Given the description of an element on the screen output the (x, y) to click on. 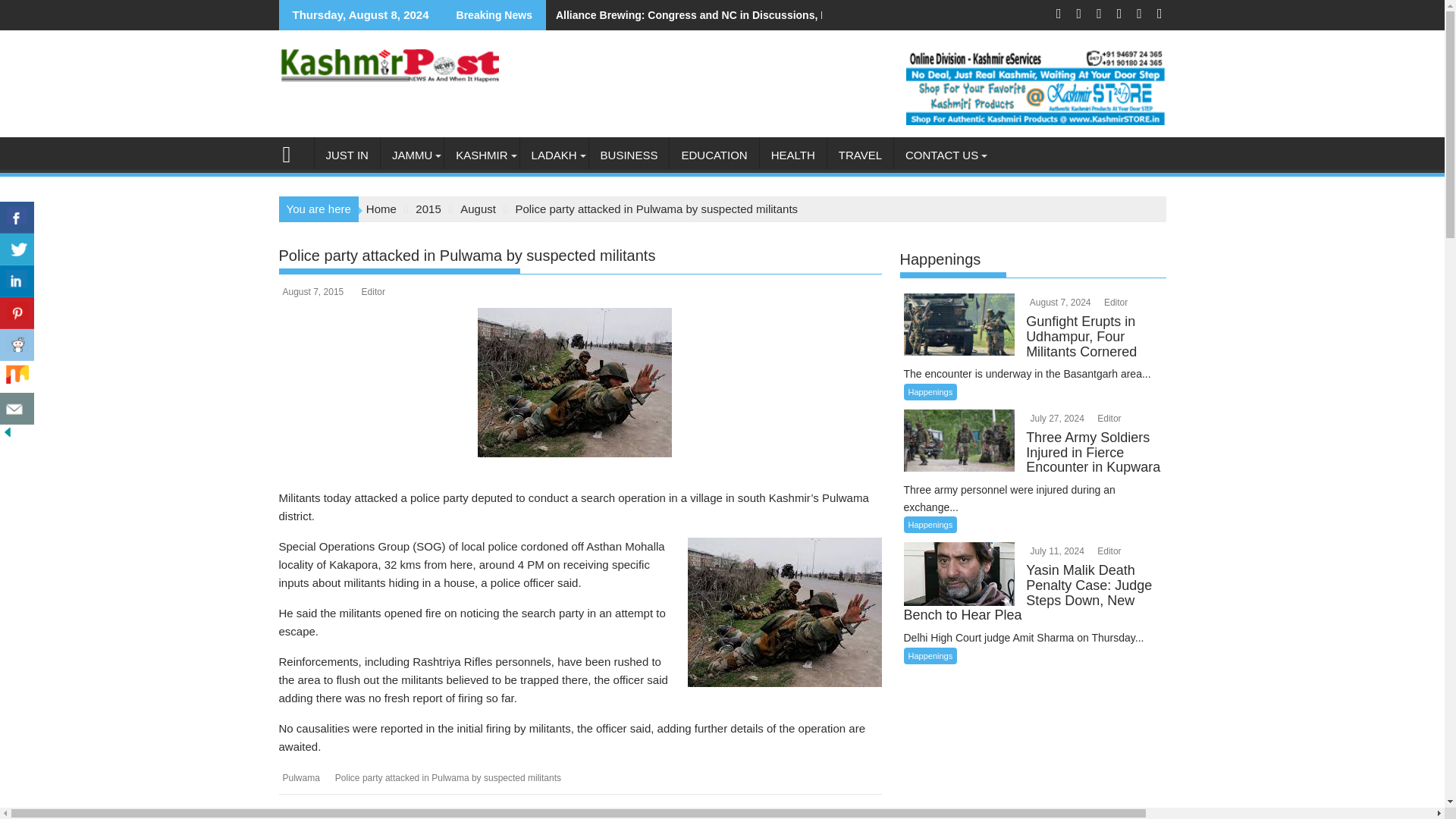
JUST IN (346, 155)
KASHMIR (481, 155)
Alliance Brewing: Congress and NC in Discussions, PDP Absent (713, 15)
JAMMU (412, 155)
Kashmir POST (293, 152)
Alliance Brewing: Congress and NC in Discussions, PDP Absent (713, 15)
